Given the description of an element on the screen output the (x, y) to click on. 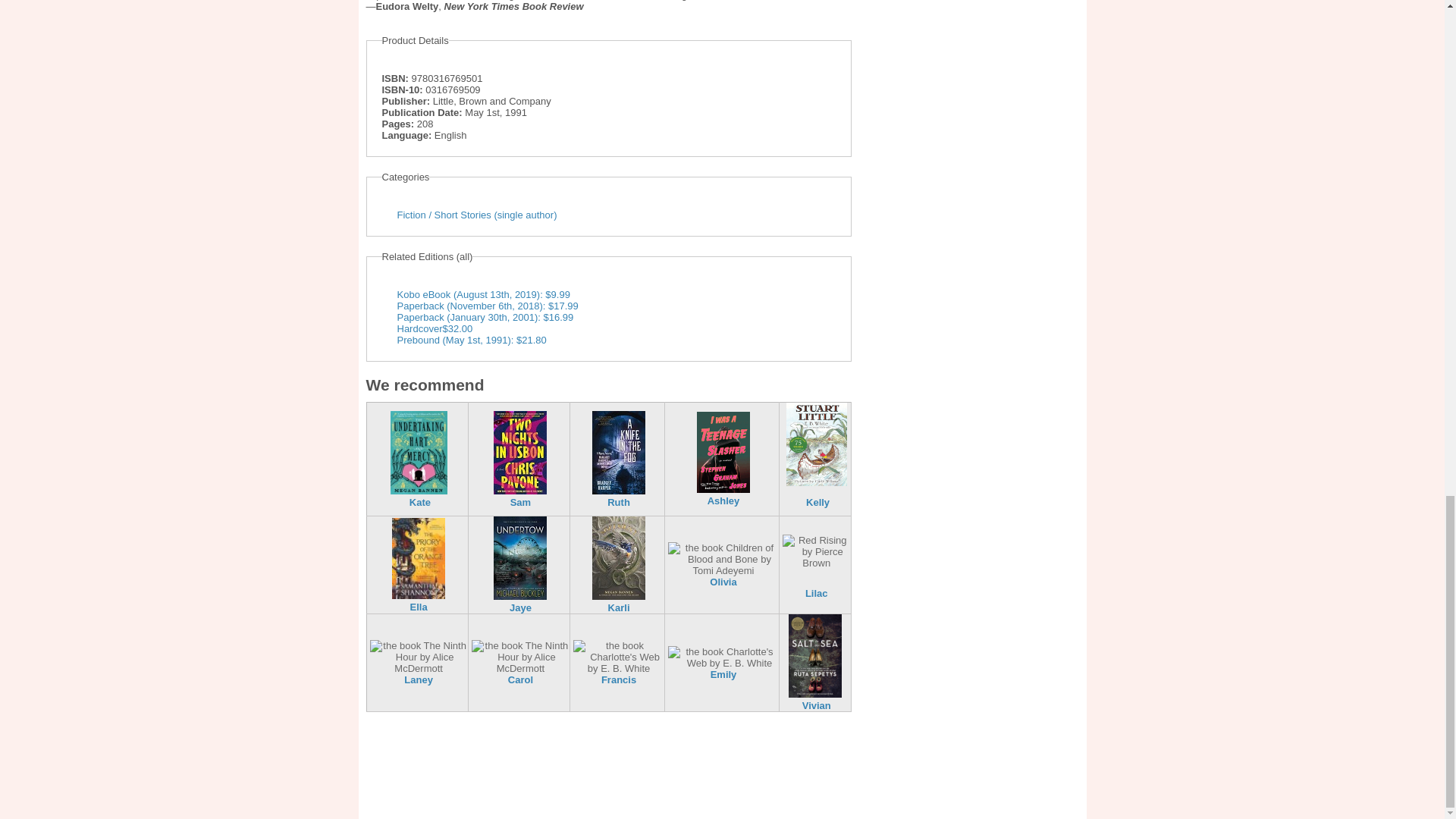
Kate (419, 501)
Ashley (723, 500)
Ruth (618, 501)
Kelly (817, 501)
Sam (521, 501)
Ella (419, 606)
